Given the description of an element on the screen output the (x, y) to click on. 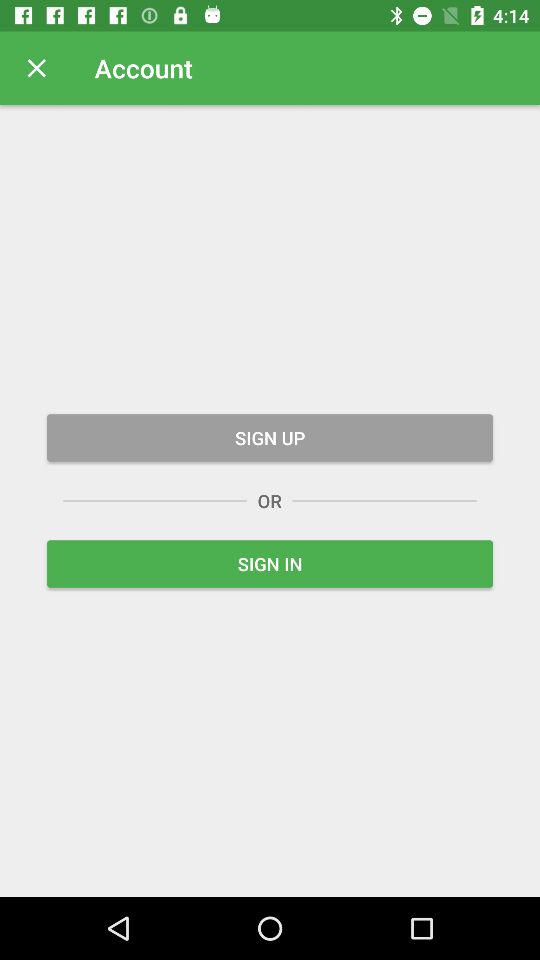
swipe until sign up (269, 437)
